Given the description of an element on the screen output the (x, y) to click on. 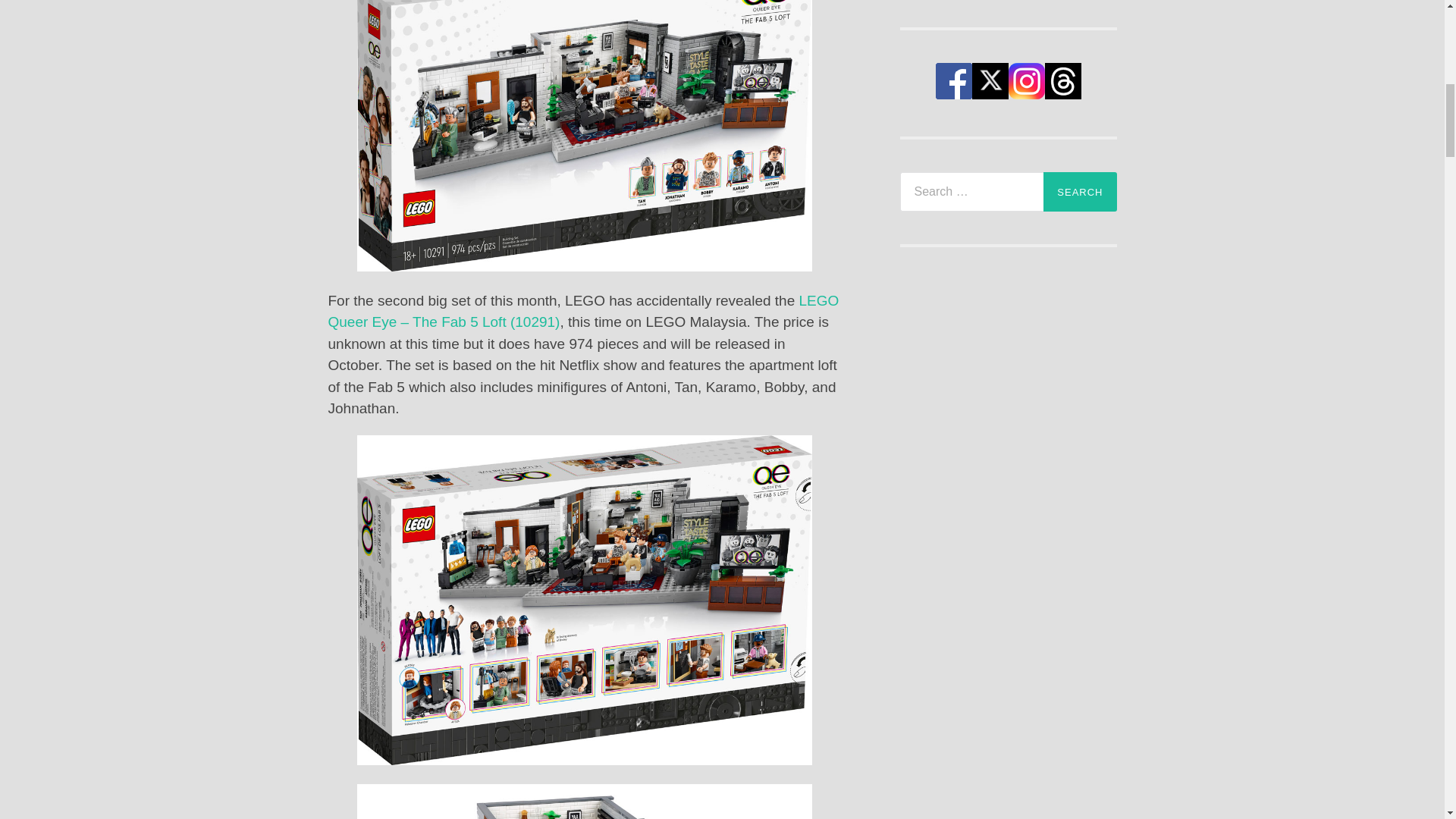
Search (1079, 191)
Advertisement (1007, 800)
Search (1079, 191)
